Given the description of an element on the screen output the (x, y) to click on. 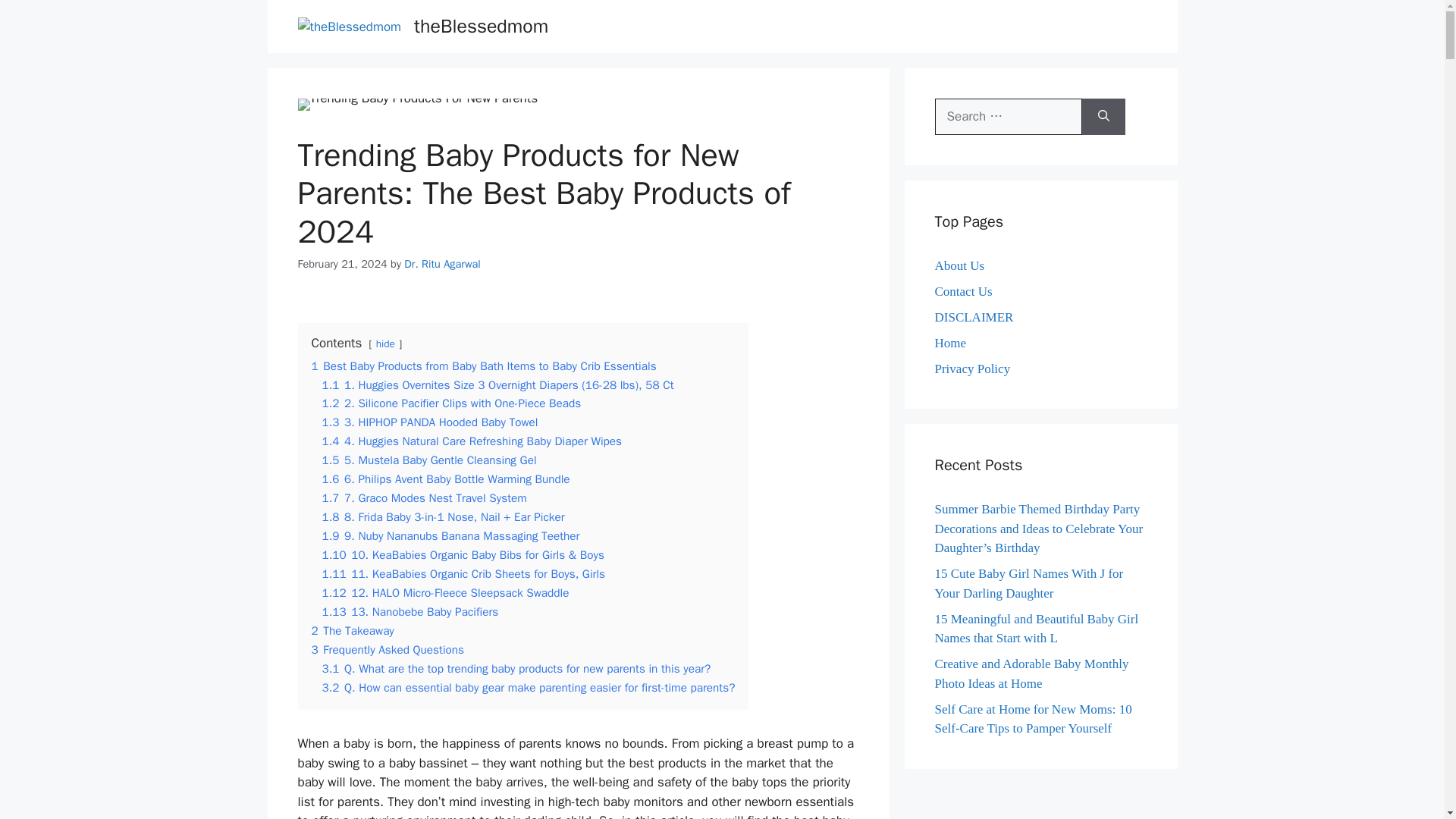
Dr. Ritu Agarwal (442, 264)
1.2 2. Silicone Pacifier Clips with One-Piece Beads (450, 403)
1.11 11. KeaBabies Organic Crib Sheets for Boys, Girls (463, 573)
1.5 5. Mustela Baby Gentle Cleansing Gel (428, 459)
1.4 4. Huggies Natural Care Refreshing Baby Diaper Wipes (471, 441)
1.6 6. Philips Avent Baby Bottle Warming Bundle (445, 478)
2 The Takeaway (352, 630)
hide (384, 343)
1.13 13. Nanobebe Baby Pacifiers (409, 611)
Search for: (1007, 116)
1.12 12. HALO Micro-Fleece Sleepsack Swaddle (445, 592)
1.7 7. Graco Modes Nest Travel System (423, 498)
View all posts by Dr. Ritu Agarwal (442, 264)
